Given the description of an element on the screen output the (x, y) to click on. 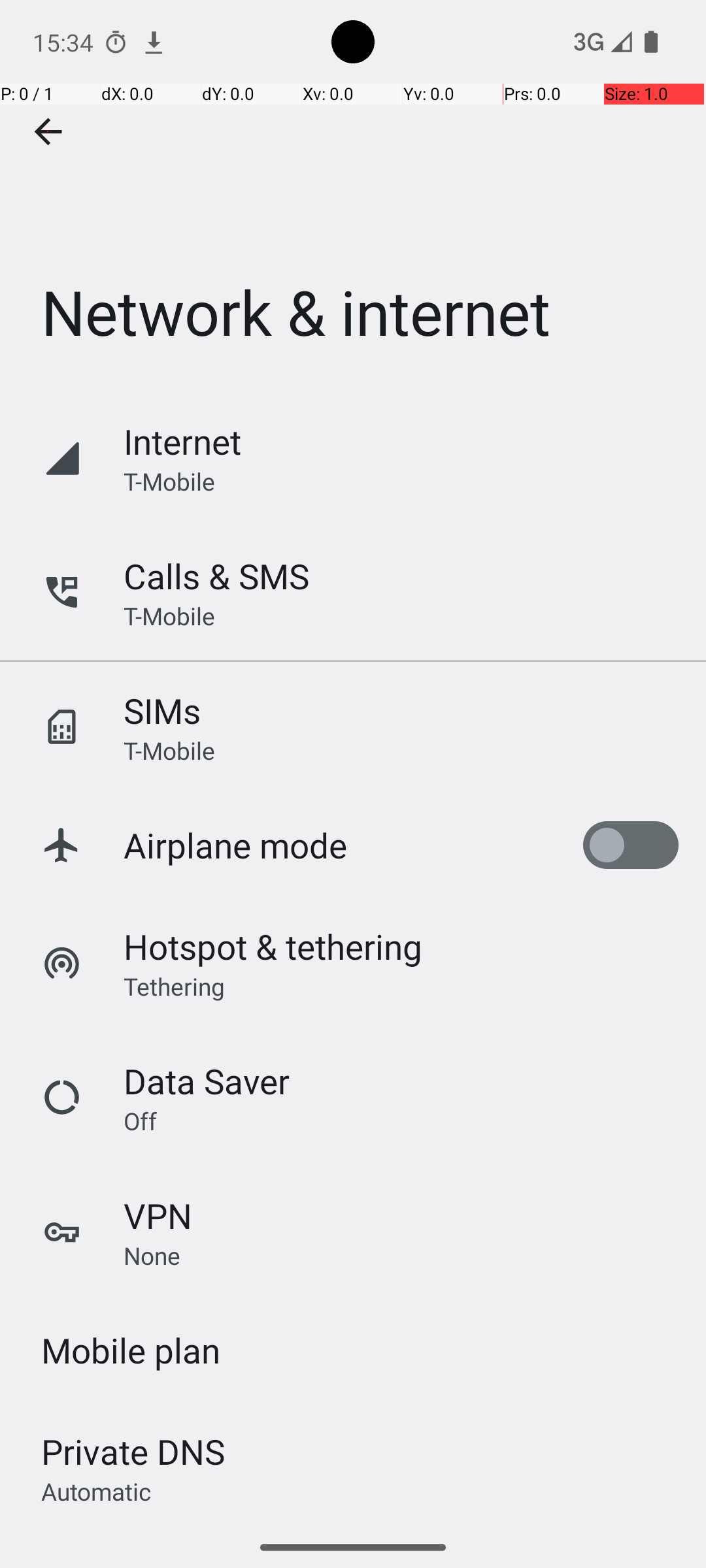
Tethering Element type: android.widget.TextView (174, 985)
